Given the description of an element on the screen output the (x, y) to click on. 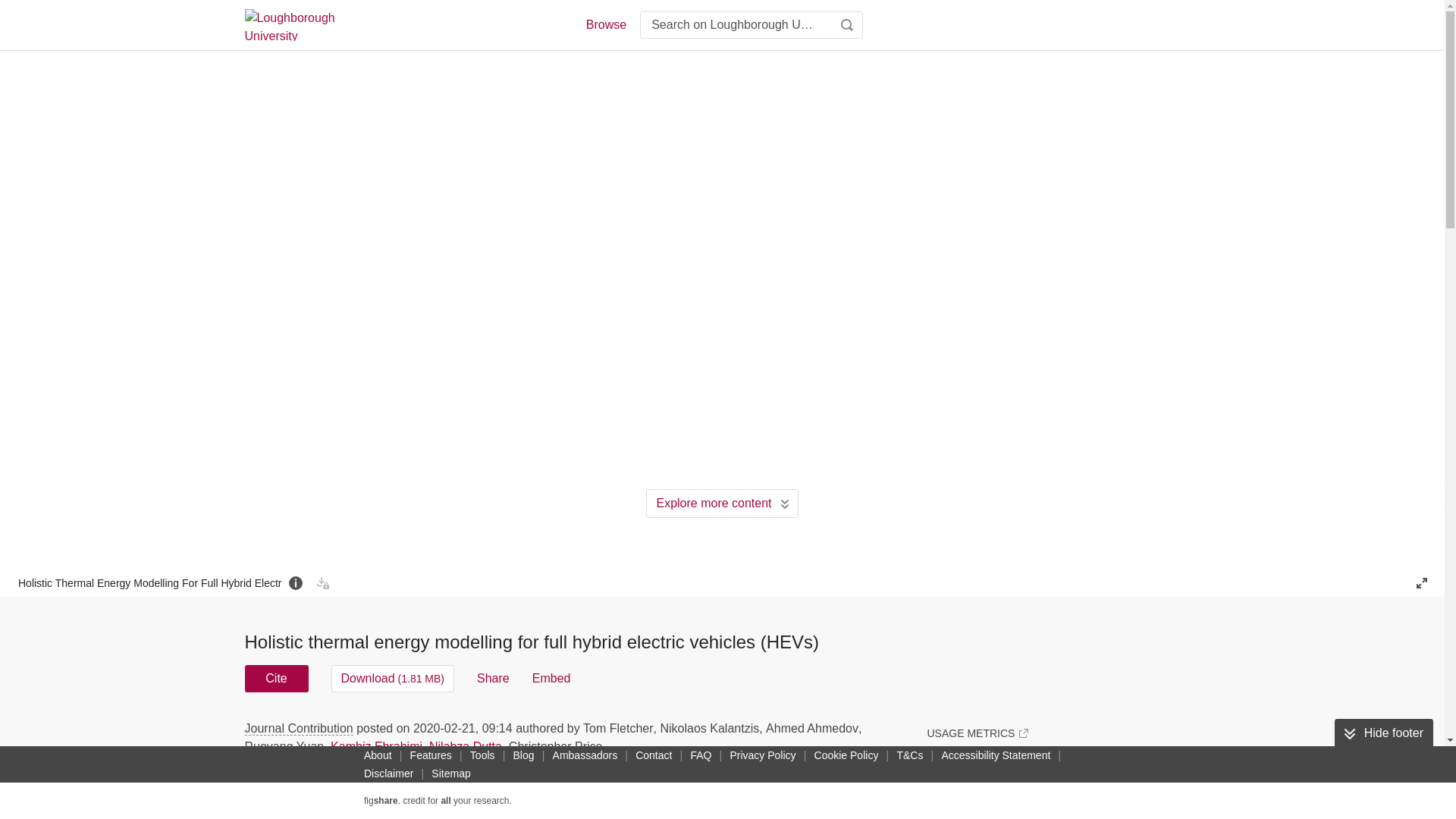
Features (431, 755)
About (377, 755)
Cite (275, 678)
Hide footer (1383, 733)
Share (493, 678)
Explore more content (721, 502)
Ambassadors (585, 755)
Blog (523, 755)
Kambiz Ebrahimi (376, 746)
Embed (551, 678)
Nilabza Dutta (465, 746)
Tools (482, 755)
Browse (605, 24)
